Given the description of an element on the screen output the (x, y) to click on. 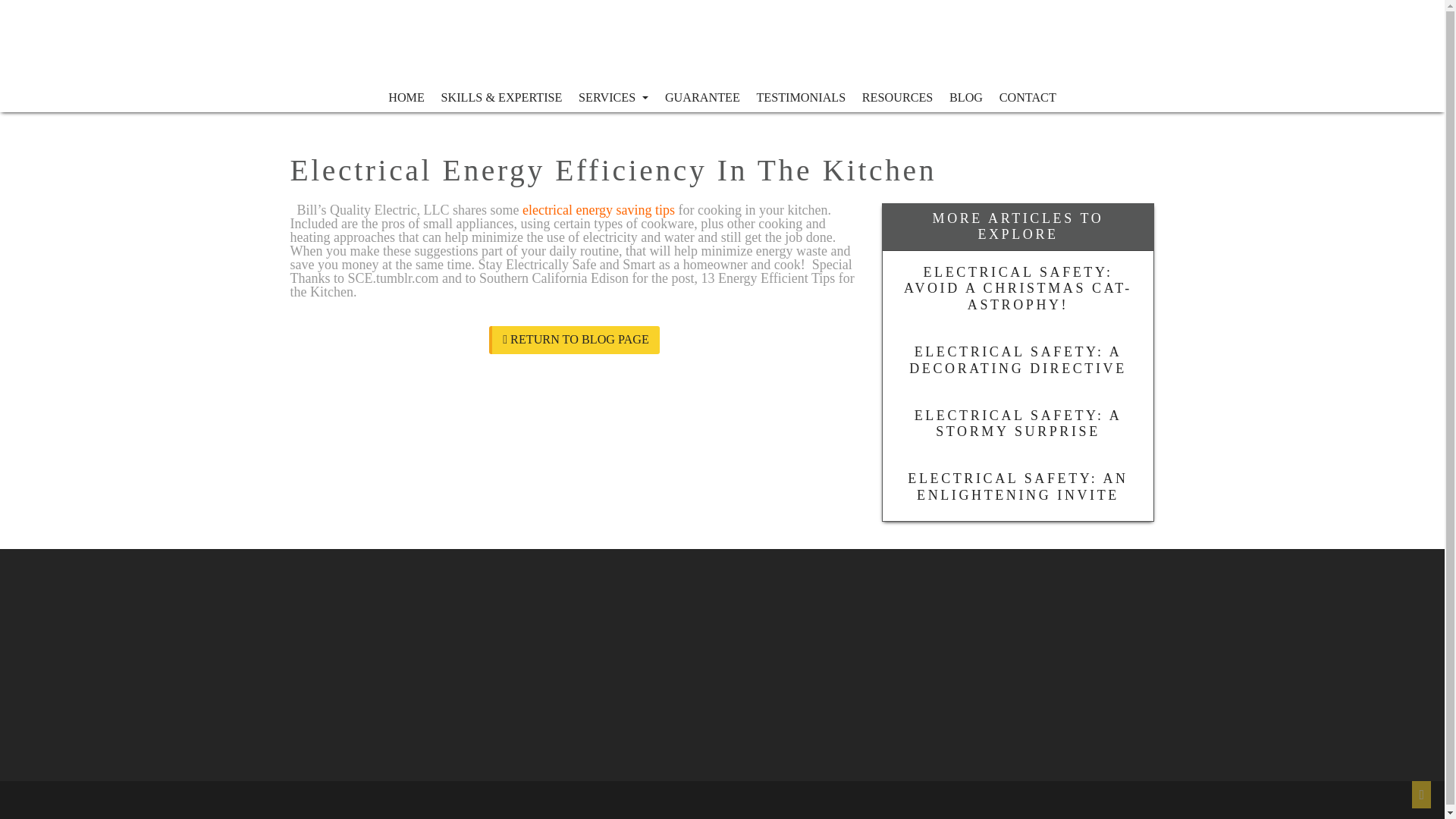
SERVICES (613, 98)
Testimonials (800, 98)
ELECTRICAL SAFETY: AVOID A CHRISTMAS CAT-ASTROPHY! (1018, 290)
HOME (406, 98)
Home (406, 98)
CONTACT (1027, 98)
electrical energy saving tips (598, 209)
Guarantee (702, 98)
GUARANTEE (702, 98)
RESOURCES (896, 98)
